Given the description of an element on the screen output the (x, y) to click on. 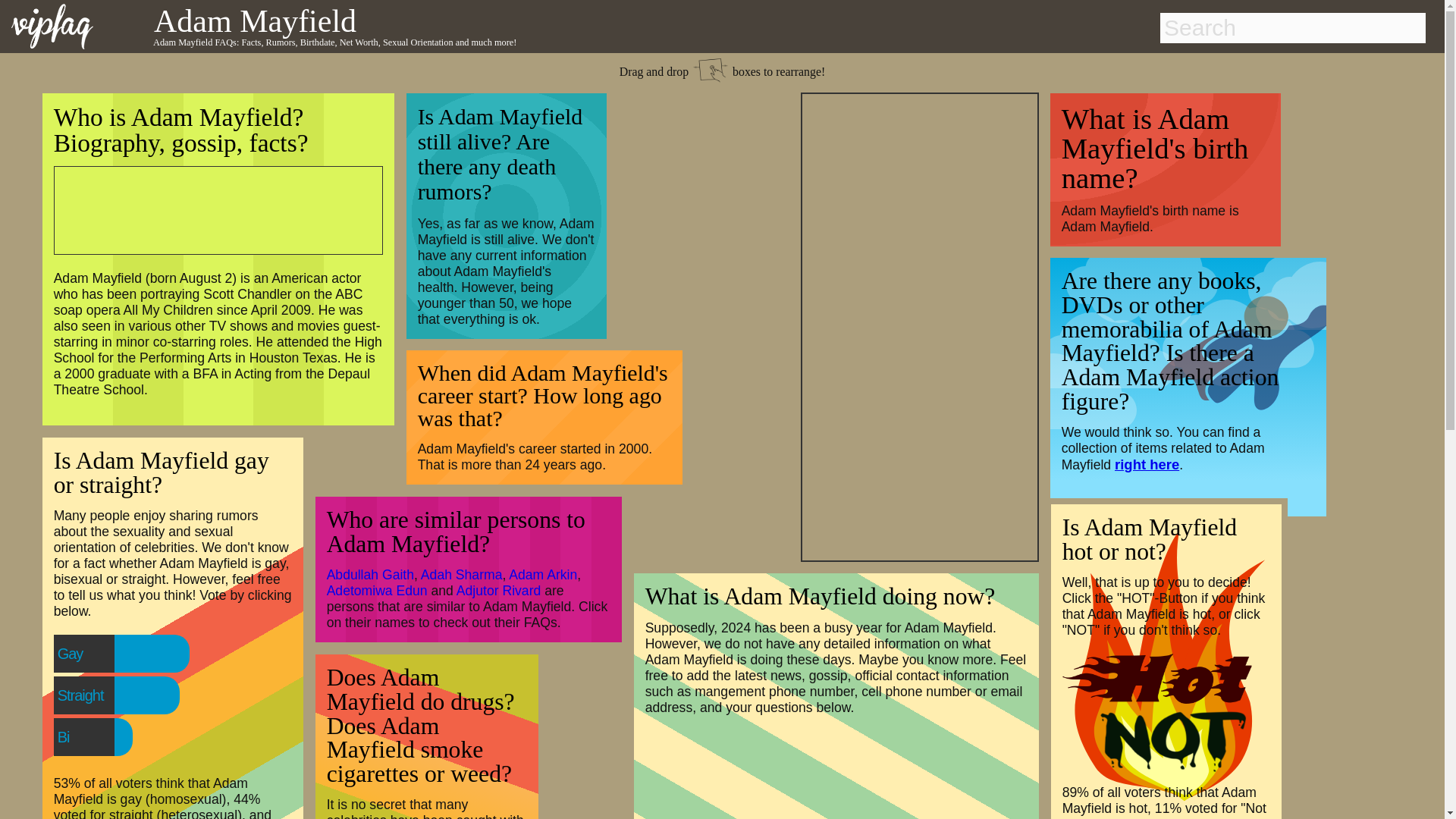
Adah Sharma (461, 574)
Gay (101, 653)
Bi (94, 736)
right here (1147, 464)
Straight (111, 695)
Abdullah Gaith (369, 574)
Adjutor Rivard (498, 590)
Adetomiwa Edun (377, 590)
Advertisement (209, 208)
Adam Arkin (542, 574)
